Given the description of an element on the screen output the (x, y) to click on. 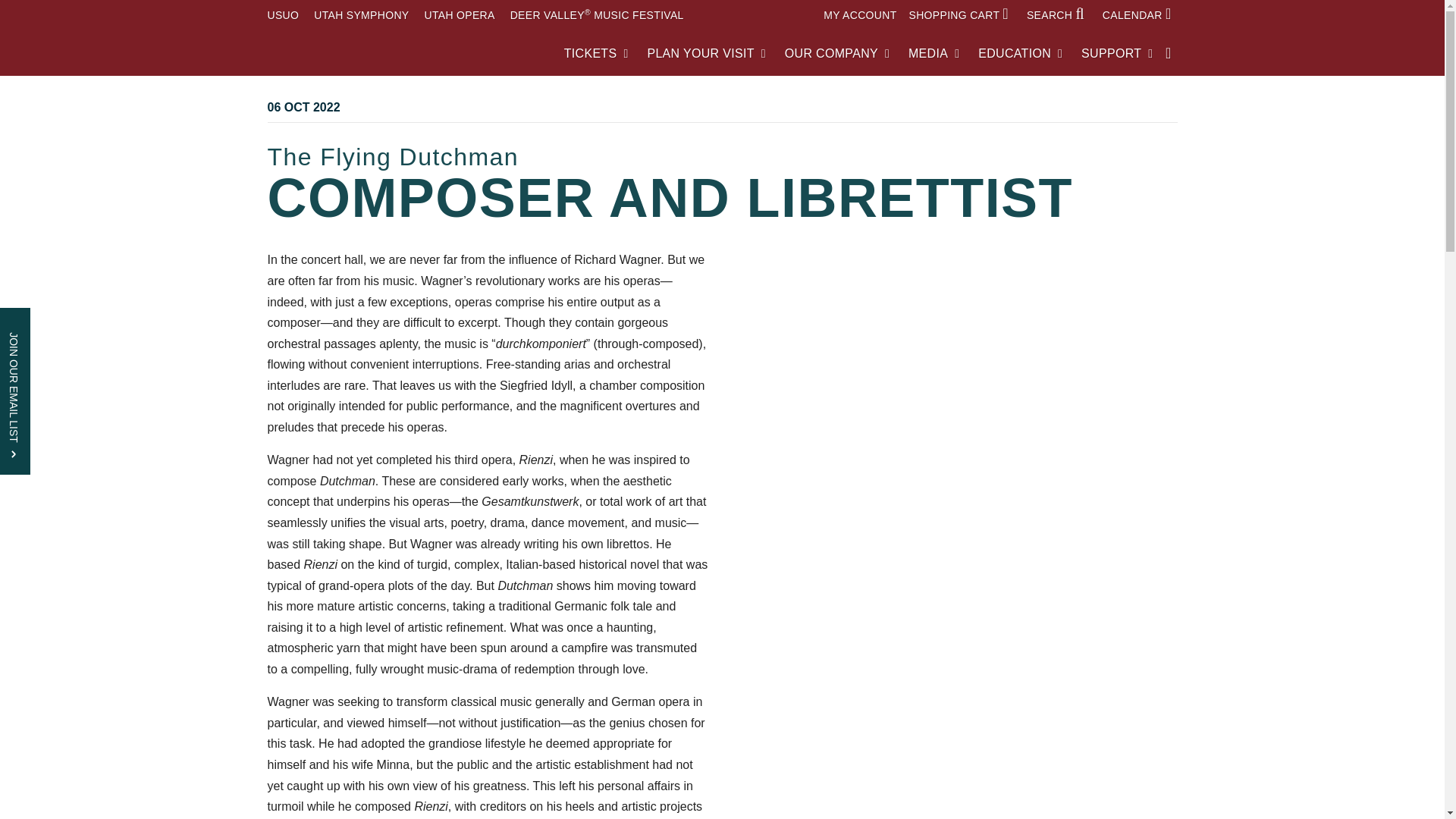
SEARCH (1058, 15)
TICKETS (596, 52)
UTAH OPERA (459, 15)
PLAN YOUR VISIT (705, 52)
MY ACCOUNT (860, 15)
SHOPPING CART (961, 15)
OUR COMPANY (836, 52)
UTAH SYMPHONY (361, 15)
USUO (282, 15)
MEDIA (933, 52)
CALENDAR (1139, 15)
